Given the description of an element on the screen output the (x, y) to click on. 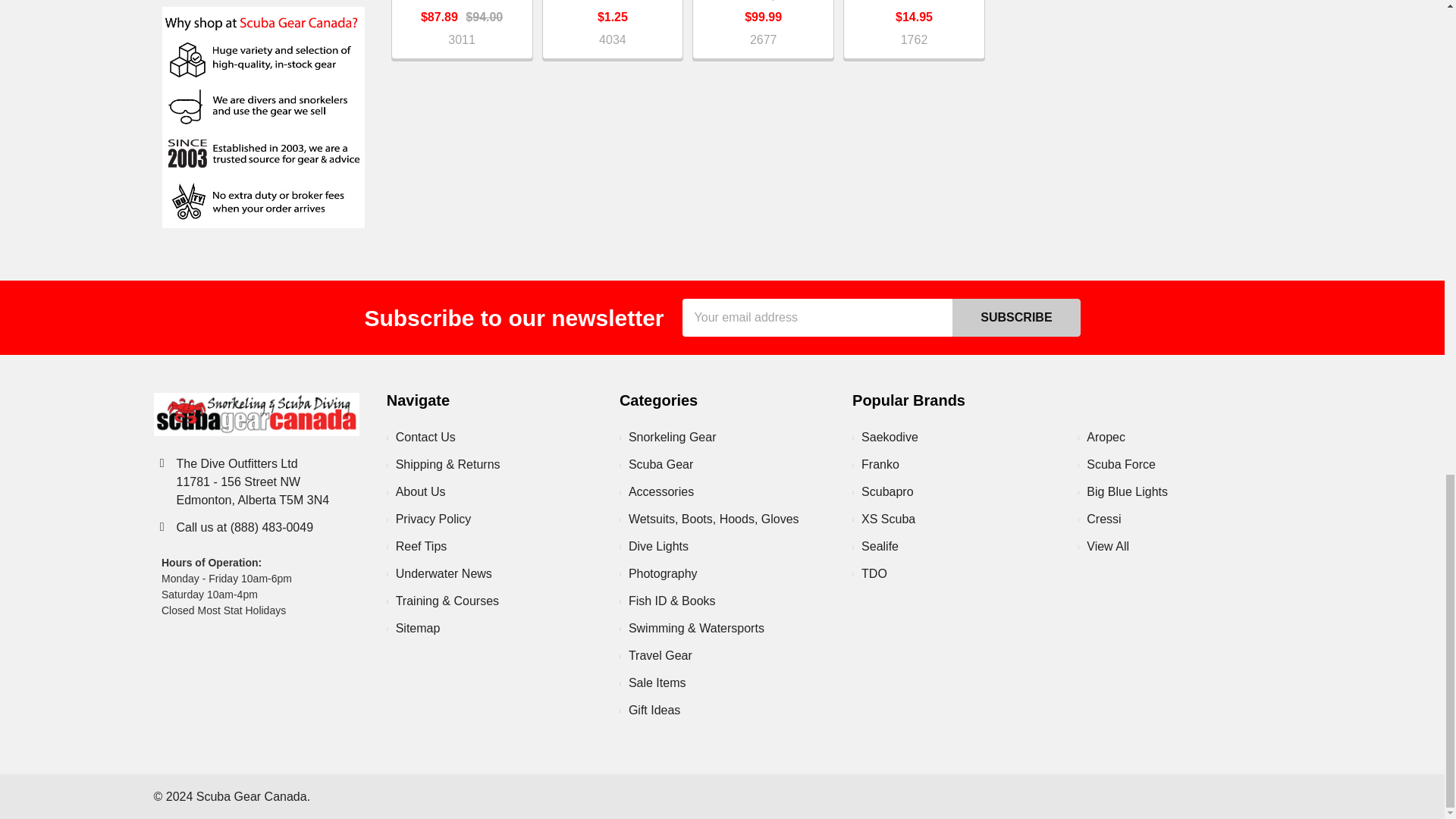
Subscribe (1016, 317)
